Given the description of an element on the screen output the (x, y) to click on. 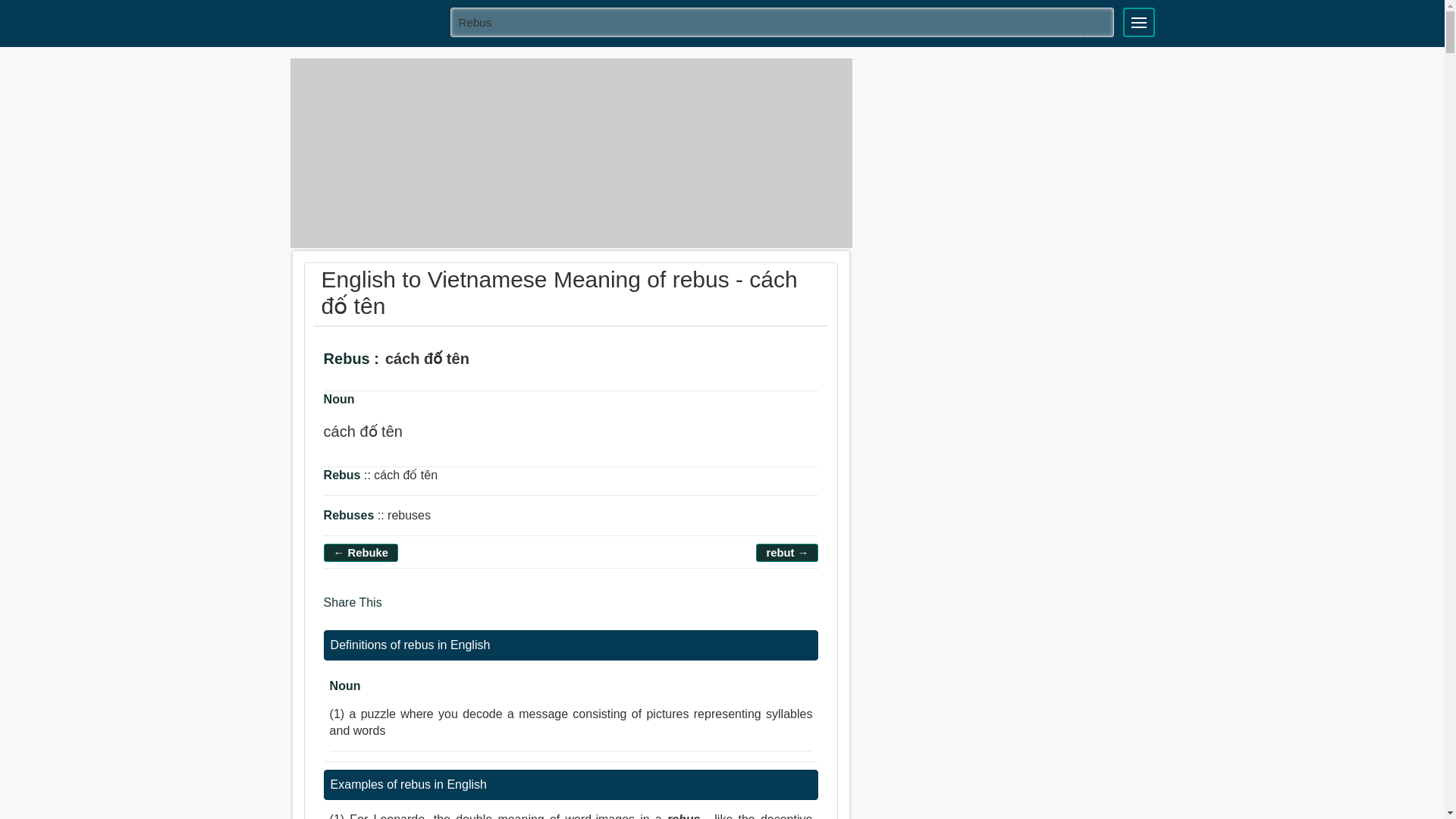
Twitter (428, 609)
VIETNAMESE (365, 20)
Add To Favorites (536, 360)
rebus (782, 21)
Say The Word (494, 360)
Search (1098, 22)
English to Vietnamese meaning of rebuke (360, 551)
English to Vietnamese meaning of rebut (786, 551)
Linkedin (458, 609)
Facebook (398, 609)
More Share (485, 609)
